Given the description of an element on the screen output the (x, y) to click on. 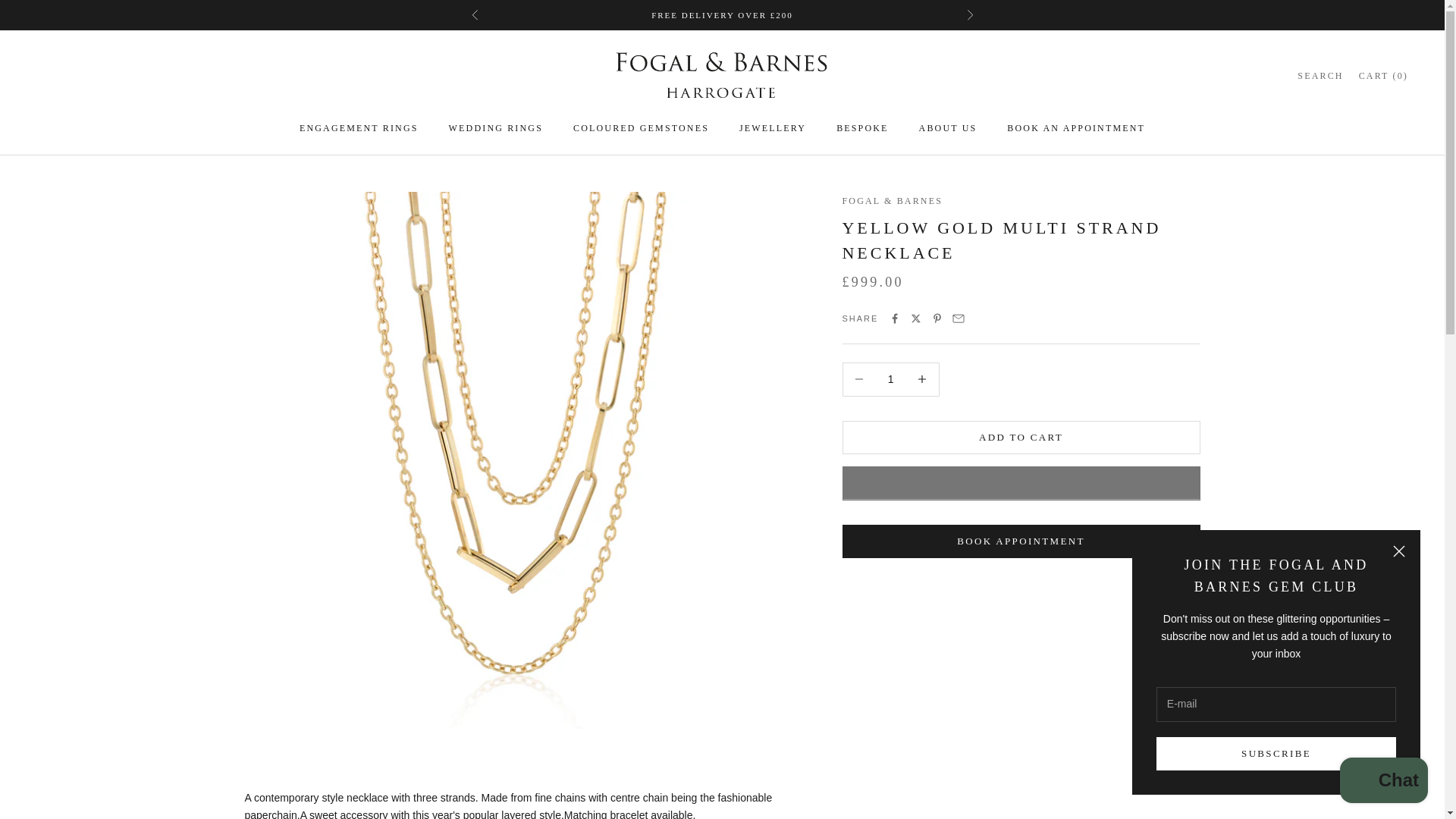
1 (890, 379)
Newsletter popup (1276, 661)
Shopify online store chat (1383, 781)
